Given the description of an element on the screen output the (x, y) to click on. 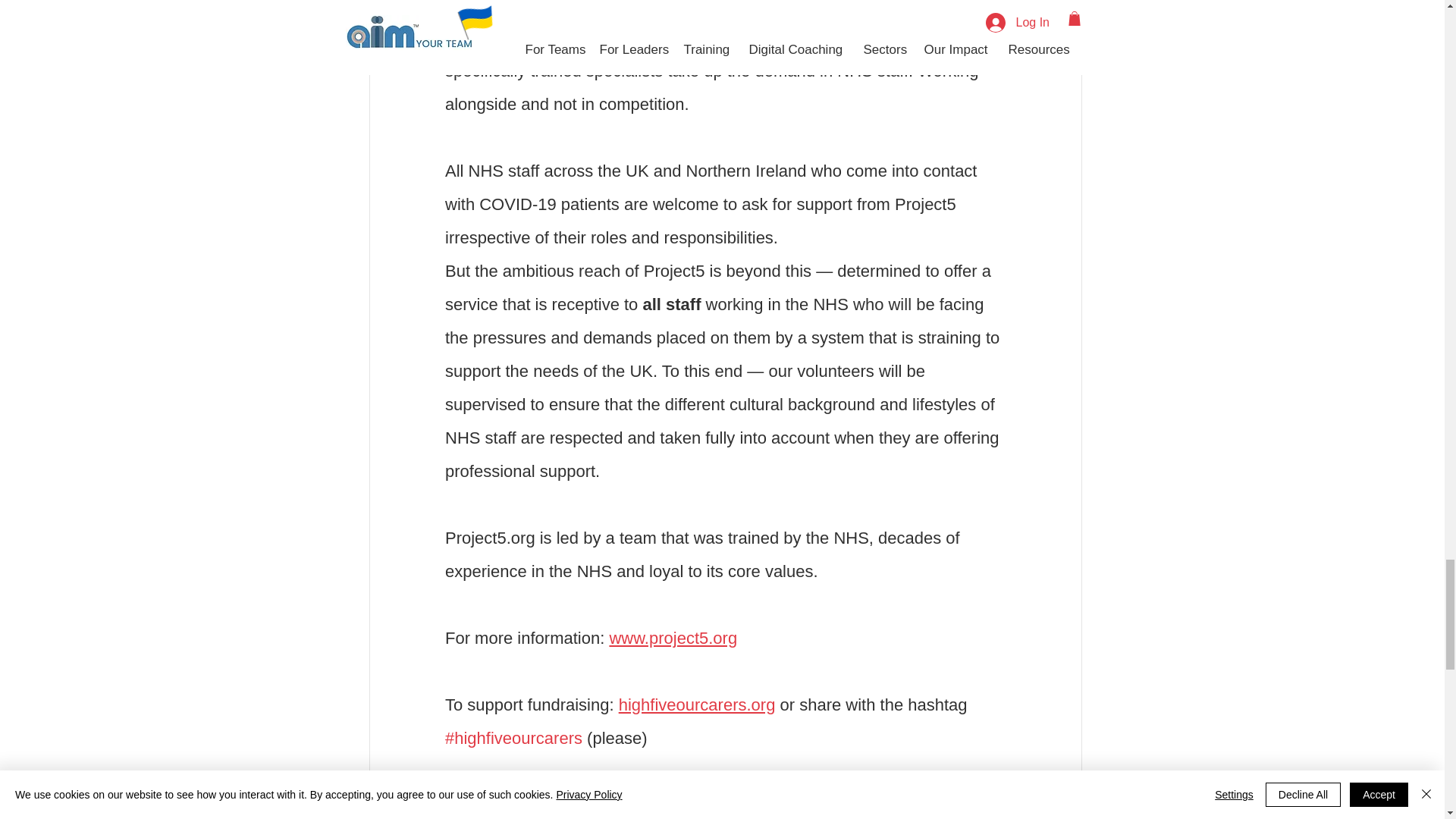
www.project5.org (672, 637)
highfiveourcarers.org (695, 703)
